Given the description of an element on the screen output the (x, y) to click on. 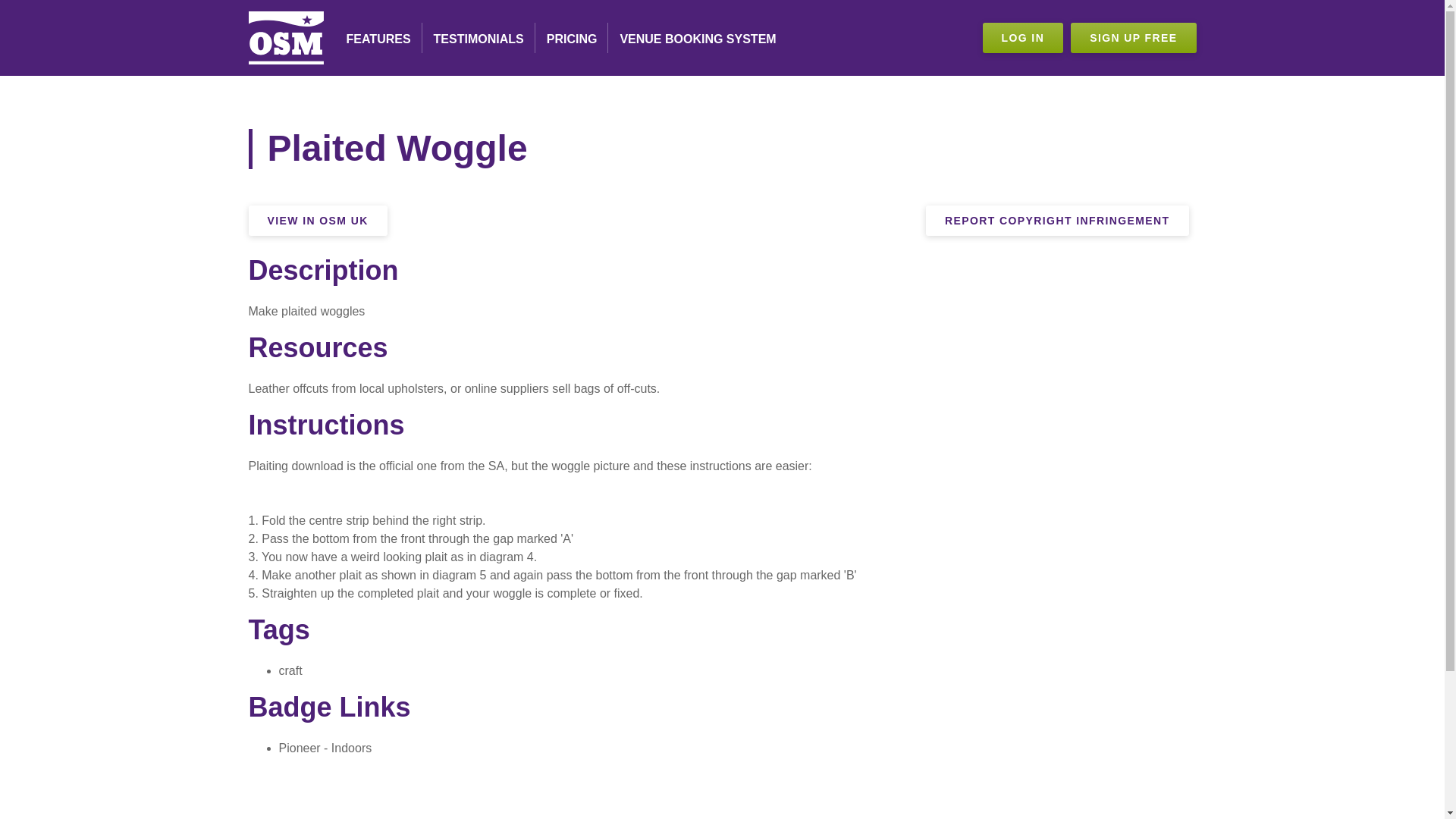
VENUE BOOKING SYSTEM (698, 37)
LOG IN (1023, 37)
PRICING (571, 37)
FEATURES (378, 37)
SIGN UP FREE (1132, 37)
REPORT COPYRIGHT INFRINGEMENT (1057, 220)
VIEW IN OSM UK (317, 220)
TESTIMONIALS (478, 37)
